Given the description of an element on the screen output the (x, y) to click on. 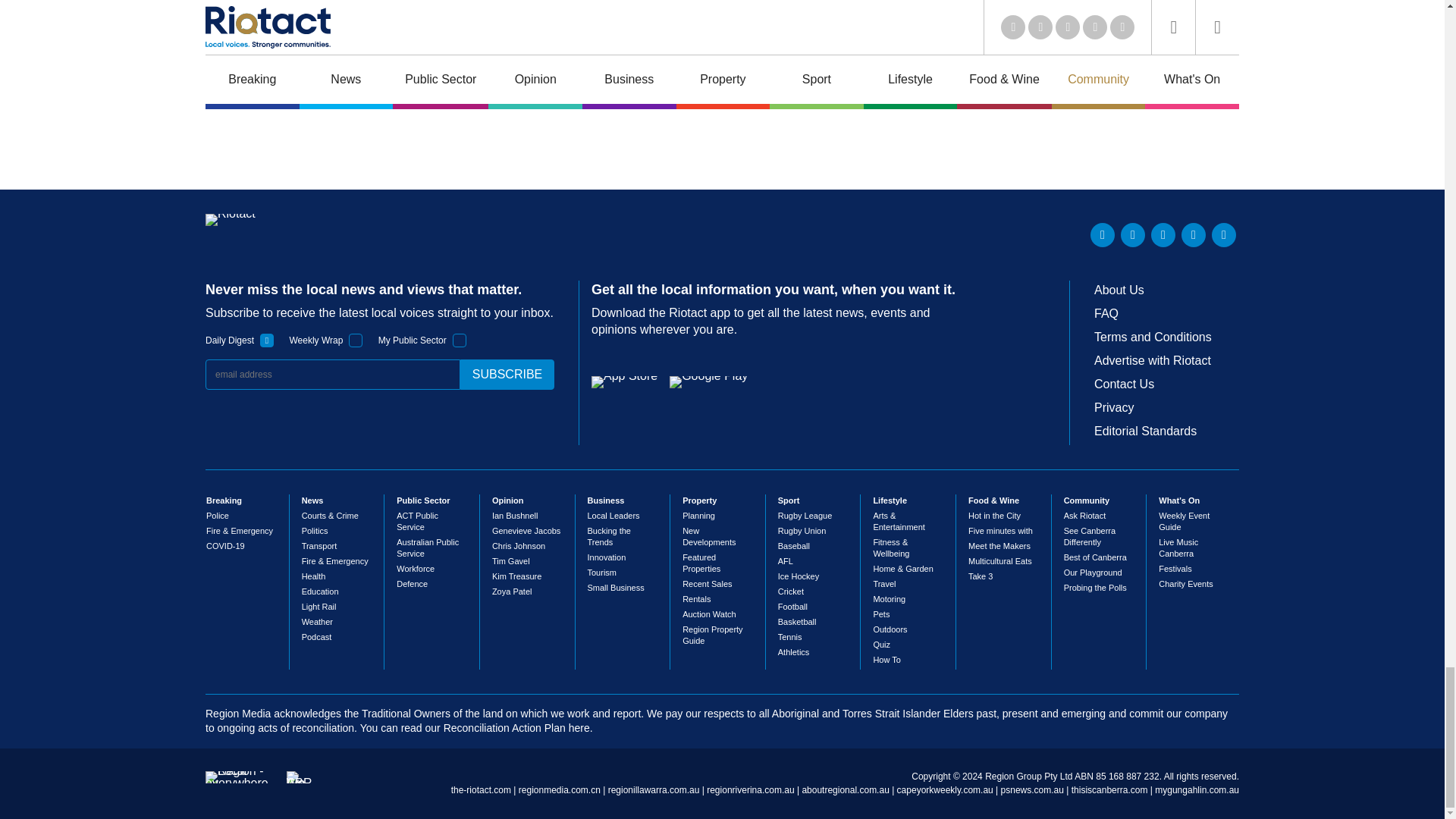
LinkedIn (1102, 234)
App Store (624, 381)
Twitter (1132, 234)
1 (458, 340)
subscribe (507, 374)
Facebook (1192, 234)
Instagram (1223, 234)
1 (266, 340)
Youtube (1162, 234)
1 (355, 340)
